Given the description of an element on the screen output the (x, y) to click on. 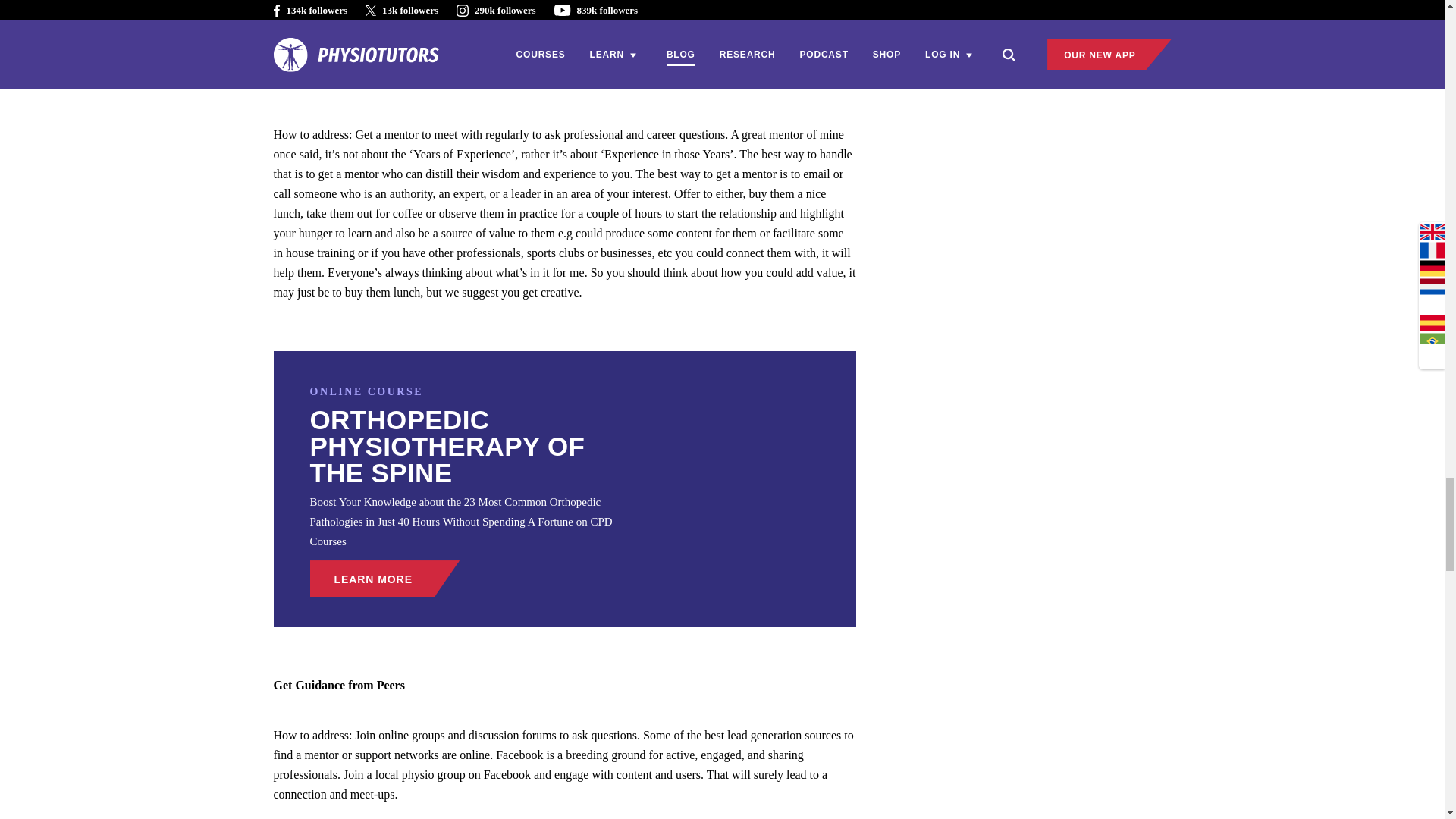
LEARN MORE (383, 578)
